Given the description of an element on the screen output the (x, y) to click on. 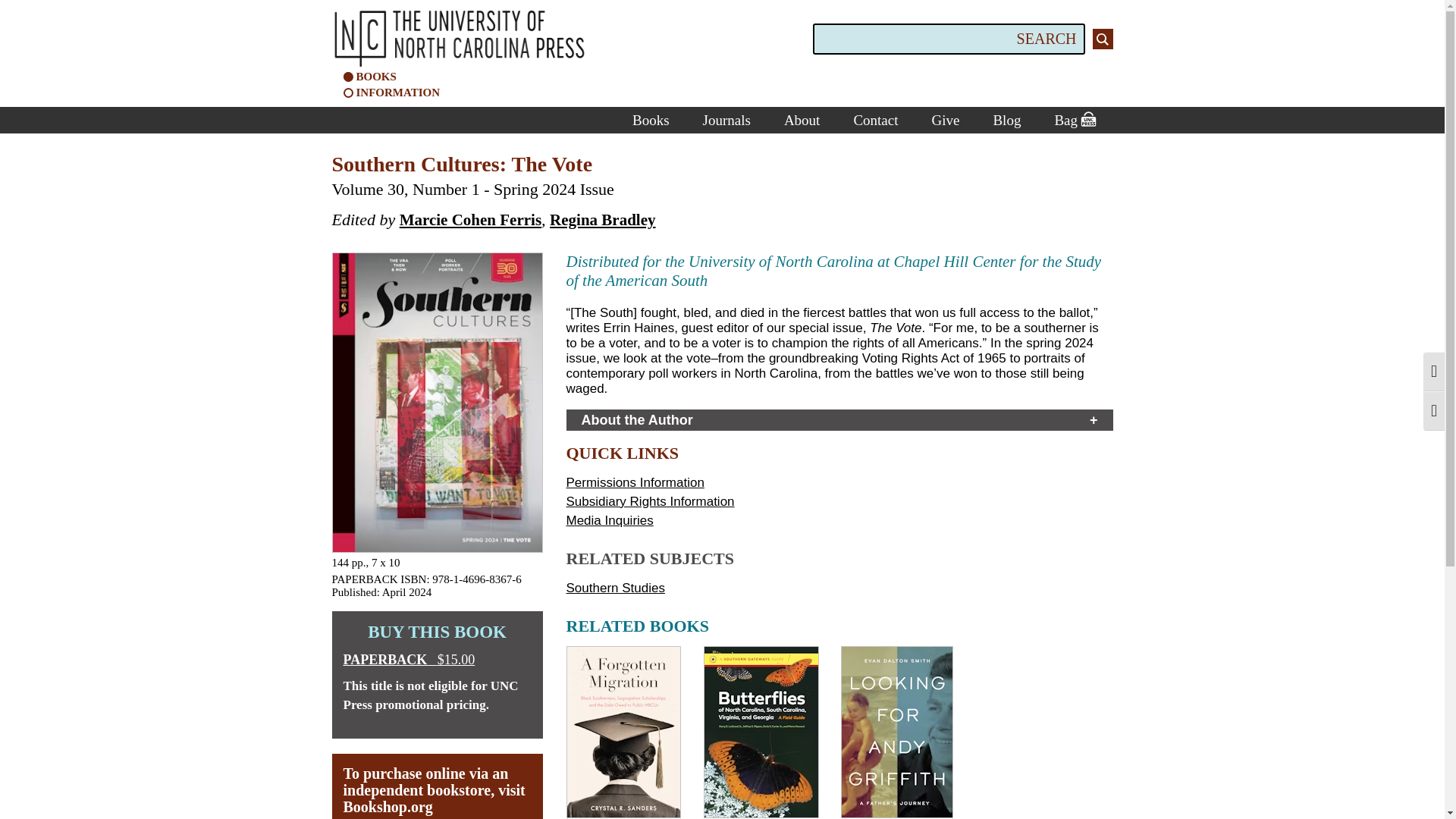
Contact (874, 120)
Books (650, 120)
Blog (1005, 120)
Give (944, 120)
About (802, 120)
Journals (726, 120)
Permissions Information (634, 482)
Southern Studies (614, 587)
Marcie Cohen Ferris (469, 219)
Regina Bradley (602, 219)
Bag (1074, 120)
Subsidiary Rights Information (649, 501)
Media Inquiries (609, 520)
